Given the description of an element on the screen output the (x, y) to click on. 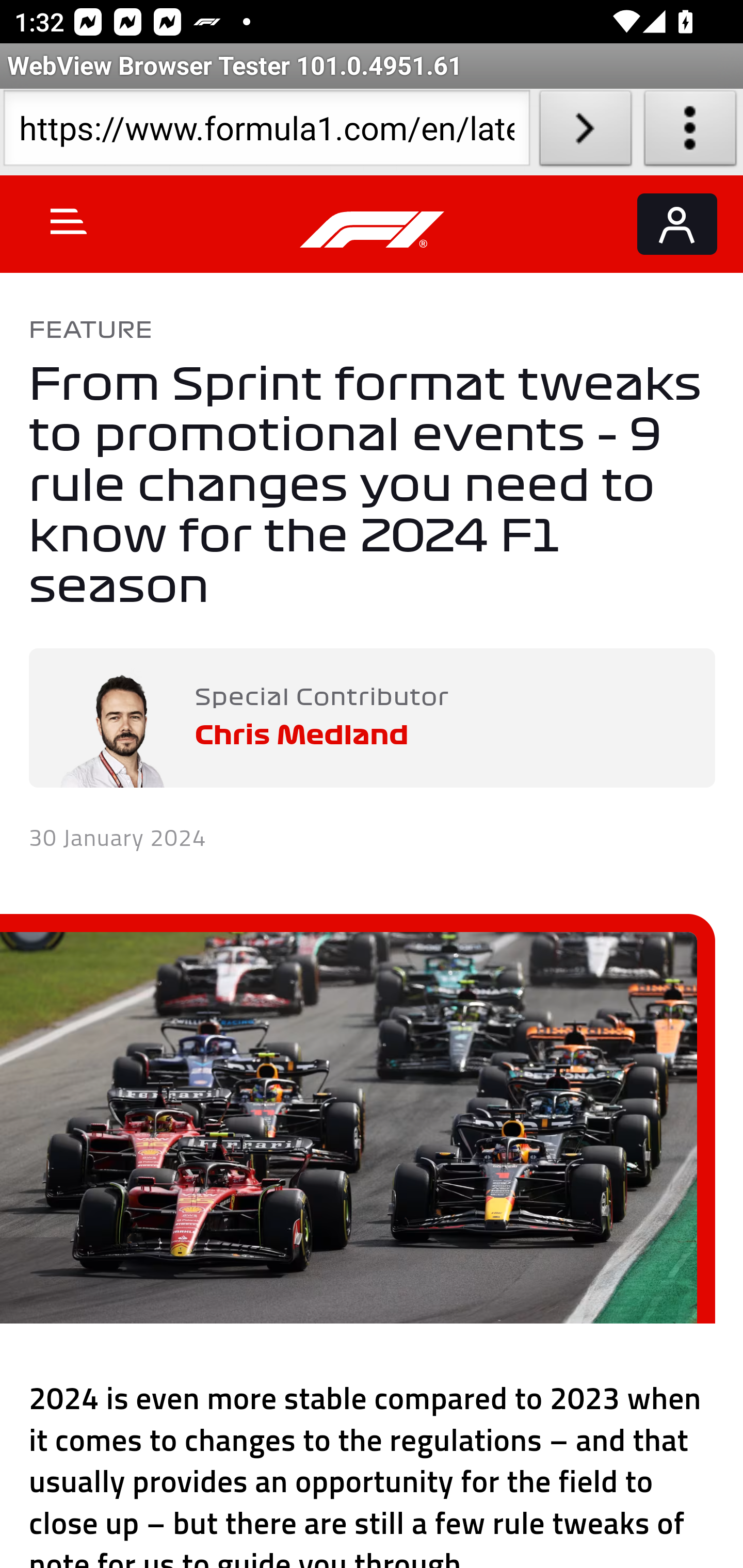
Load URL (585, 132)
About WebView (690, 132)
Toggle Menu (68, 220)
Formula 1 (372, 230)
 Login/Register  Login/Register (677, 223)
